Given the description of an element on the screen output the (x, y) to click on. 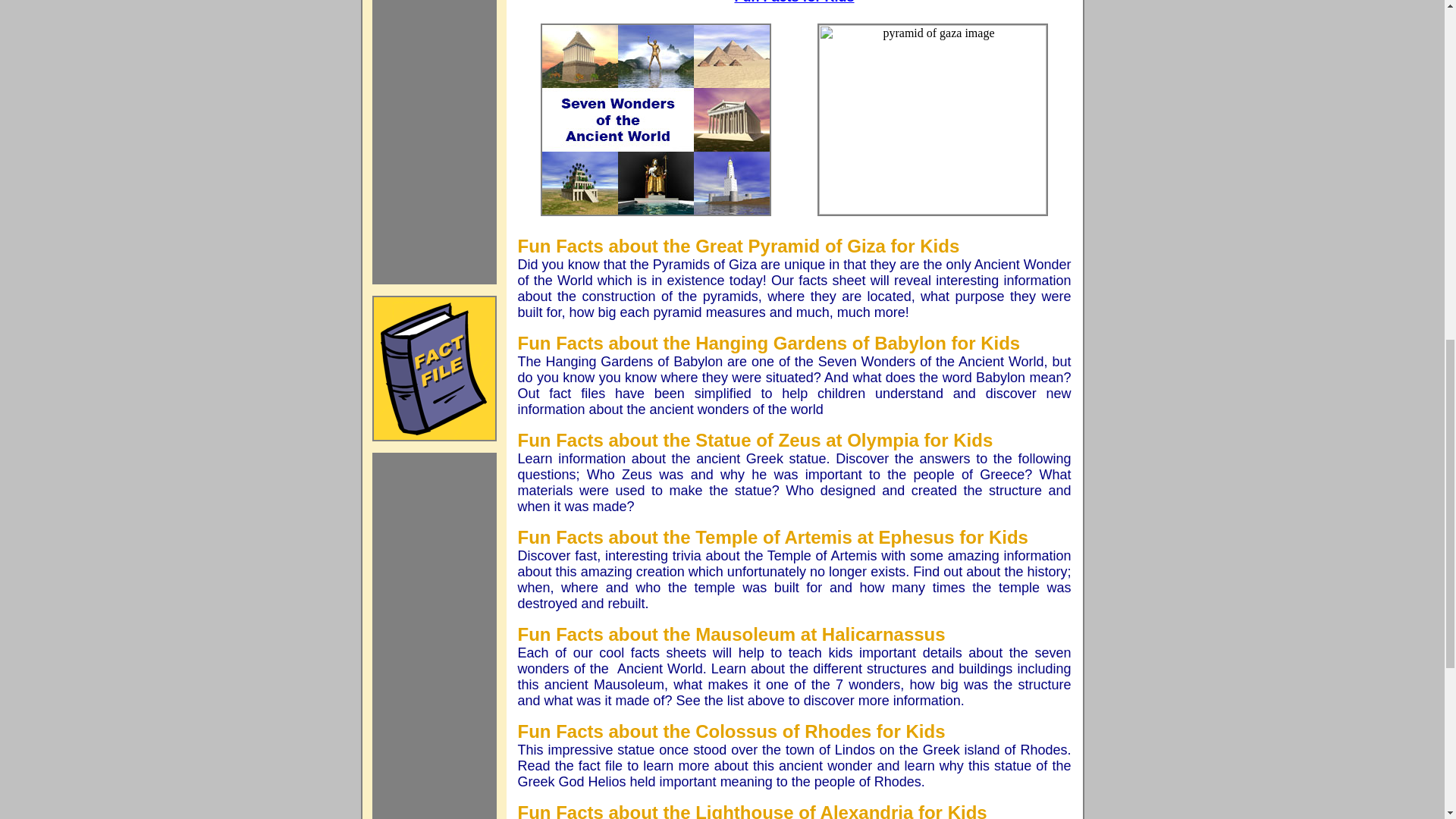
Fun Facts for Kids (793, 2)
